Given the description of an element on the screen output the (x, y) to click on. 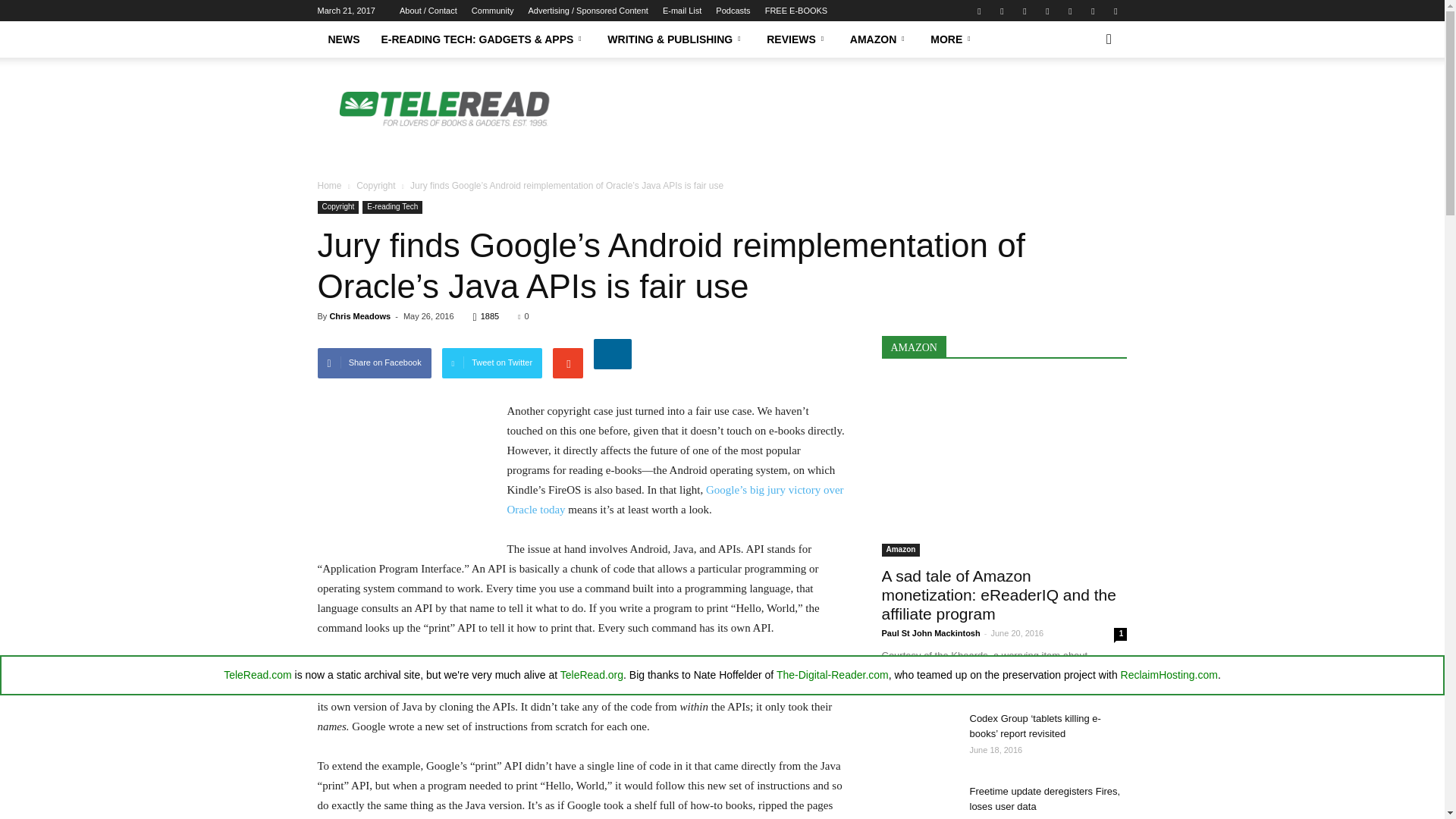
E-mail List (681, 10)
FREE E-BOOKS (796, 10)
Twitter (1114, 10)
Podcasts (732, 10)
Pinterest (1046, 10)
Community (492, 10)
Linkedin (1024, 10)
Tumblr (1092, 10)
NEWS (343, 39)
Facebook (979, 10)
RSS (1069, 10)
